Given the description of an element on the screen output the (x, y) to click on. 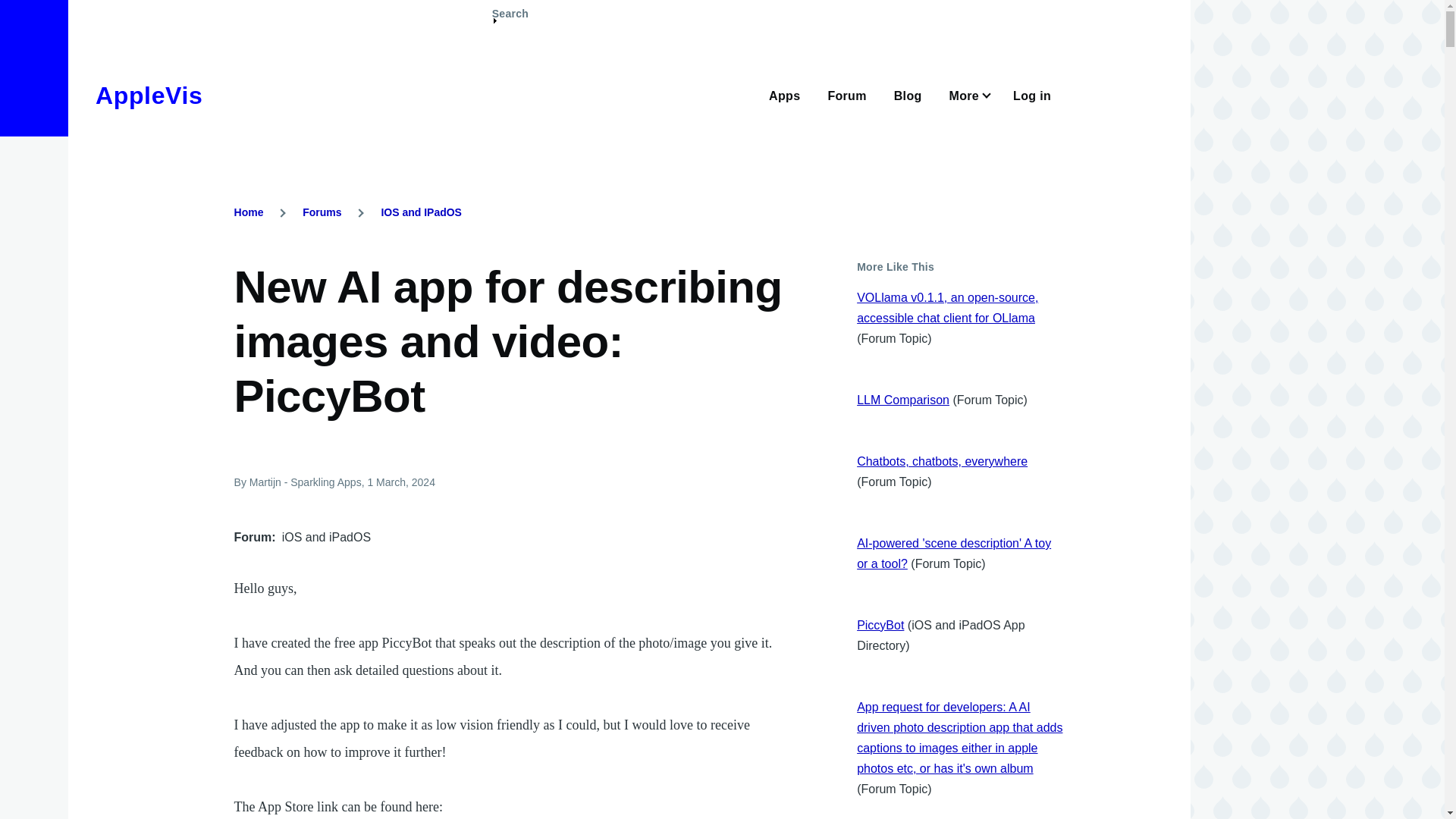
Skip to main content (595, 6)
Home (248, 212)
IOS and IPadOS (420, 212)
AppleVis (149, 94)
Search (510, 20)
Home (149, 94)
Forums (321, 212)
